Given the description of an element on the screen output the (x, y) to click on. 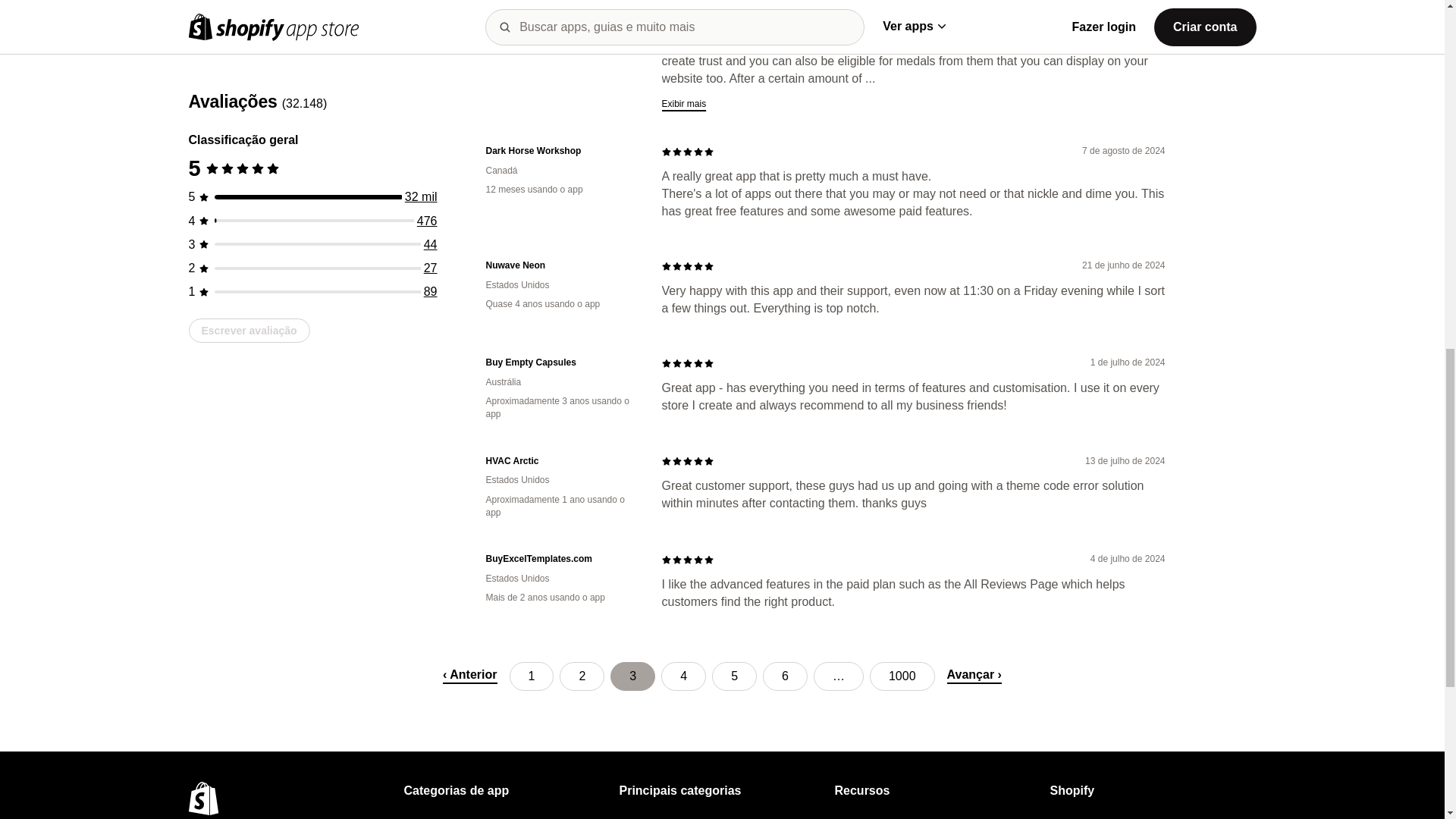
BuyExcelTemplates.com (560, 558)
Nuwave Neon (560, 265)
Buy Empty Capsules (560, 362)
HVAC Arctic (560, 461)
Dark Horse Workshop (560, 151)
